Given the description of an element on the screen output the (x, y) to click on. 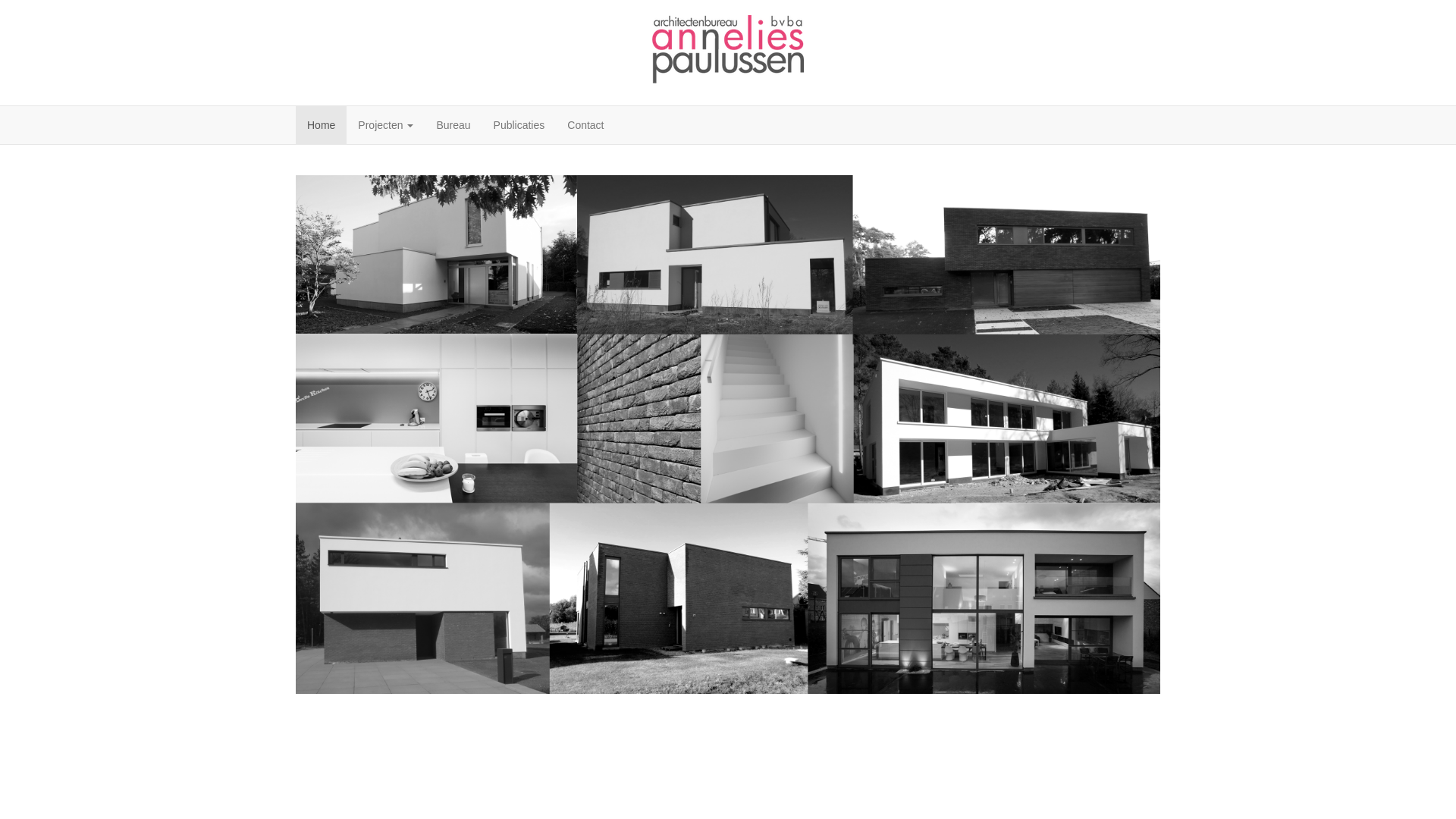
Contact Element type: text (585, 125)
www.anneliespaulussen.be Element type: hover (727, 50)
Projecten Element type: text (385, 125)
Home Element type: text (320, 125)
Publicaties Element type: text (519, 125)
Bureau Element type: text (452, 125)
